Given the description of an element on the screen output the (x, y) to click on. 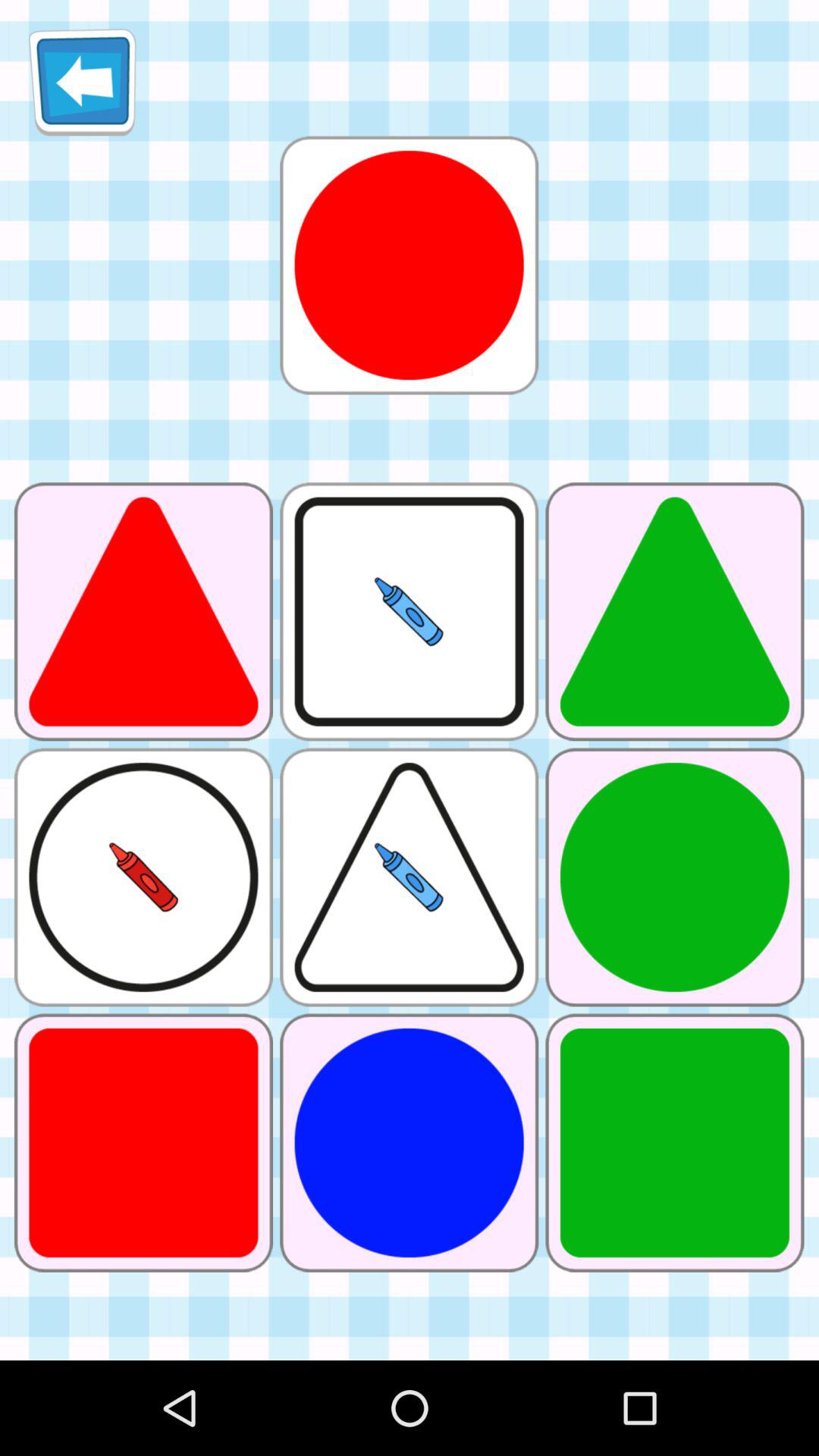
select this shape (409, 265)
